Given the description of an element on the screen output the (x, y) to click on. 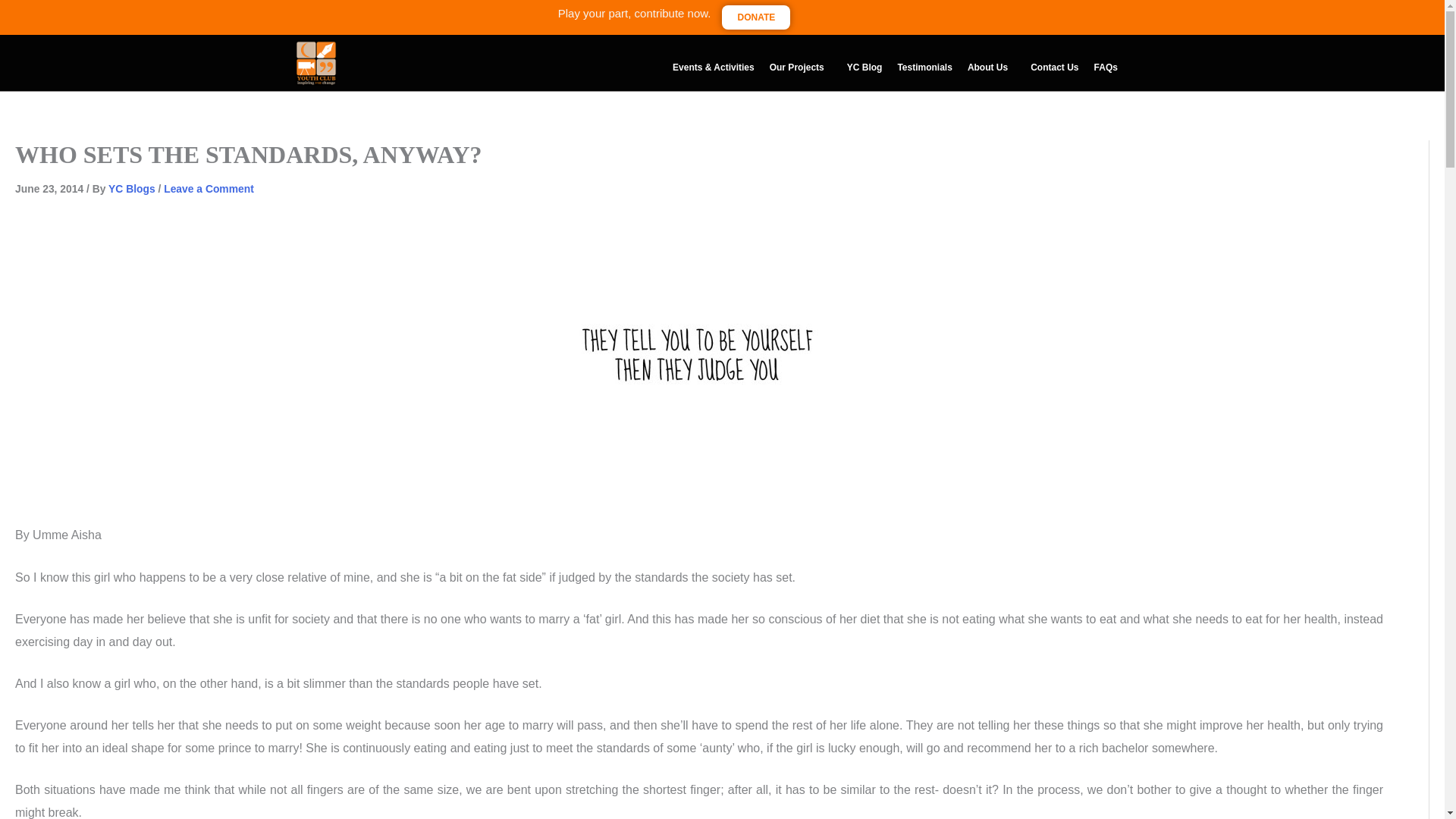
Testimonials (924, 67)
Our Projects (800, 67)
YC Blog (864, 67)
DONATE (756, 16)
About Us (991, 67)
FAQs (1105, 67)
View all posts by YC Blogs (132, 188)
Leave a Comment (208, 188)
Contact Us (1054, 67)
YC Blogs (132, 188)
